Given the description of an element on the screen output the (x, y) to click on. 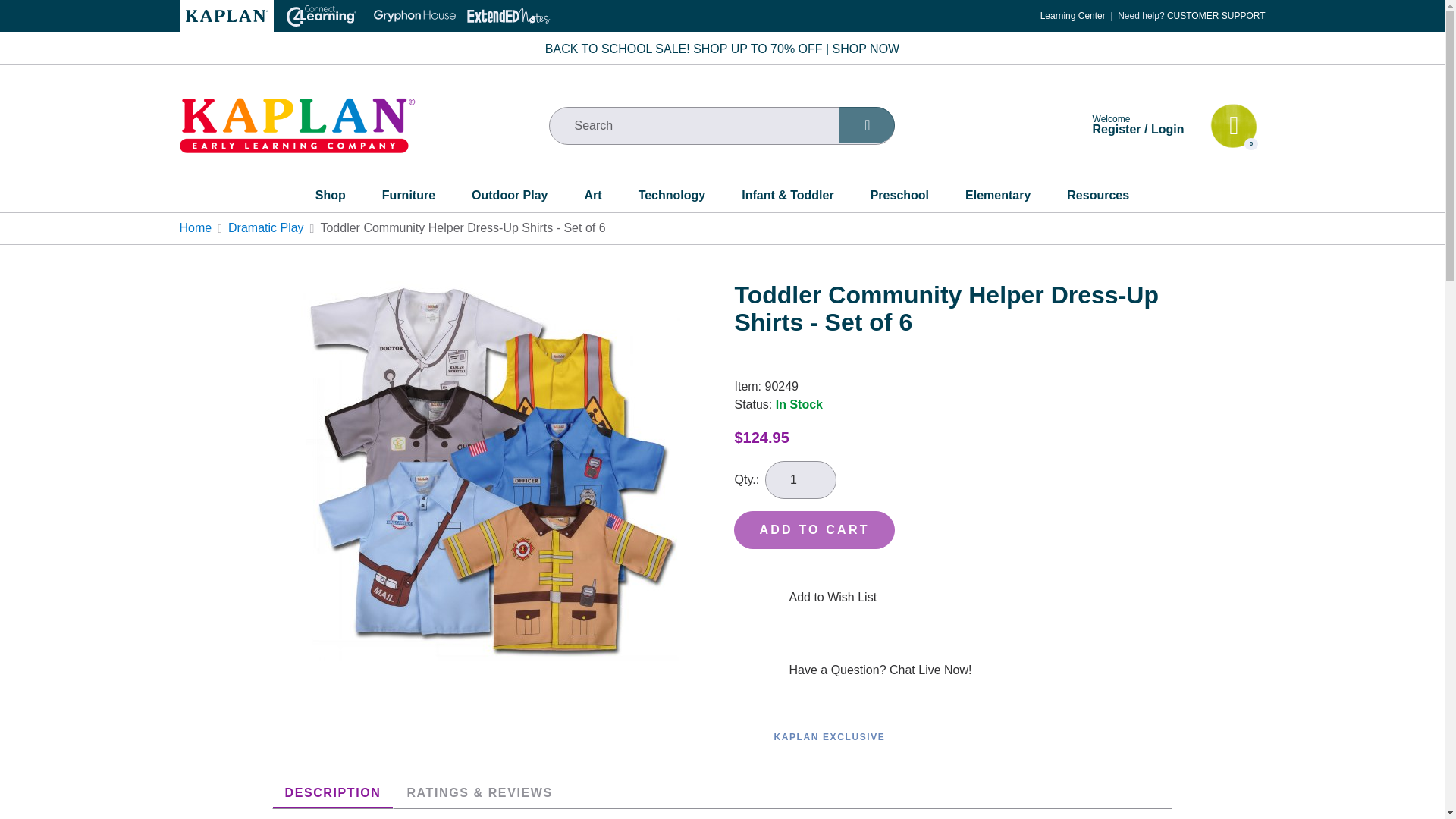
Shop (330, 199)
0 (1233, 126)
Learning Center (1073, 15)
1 (800, 479)
Share on Pinterest (1240, 356)
CUSTOMER SUPPORT (1216, 15)
